Given the description of an element on the screen output the (x, y) to click on. 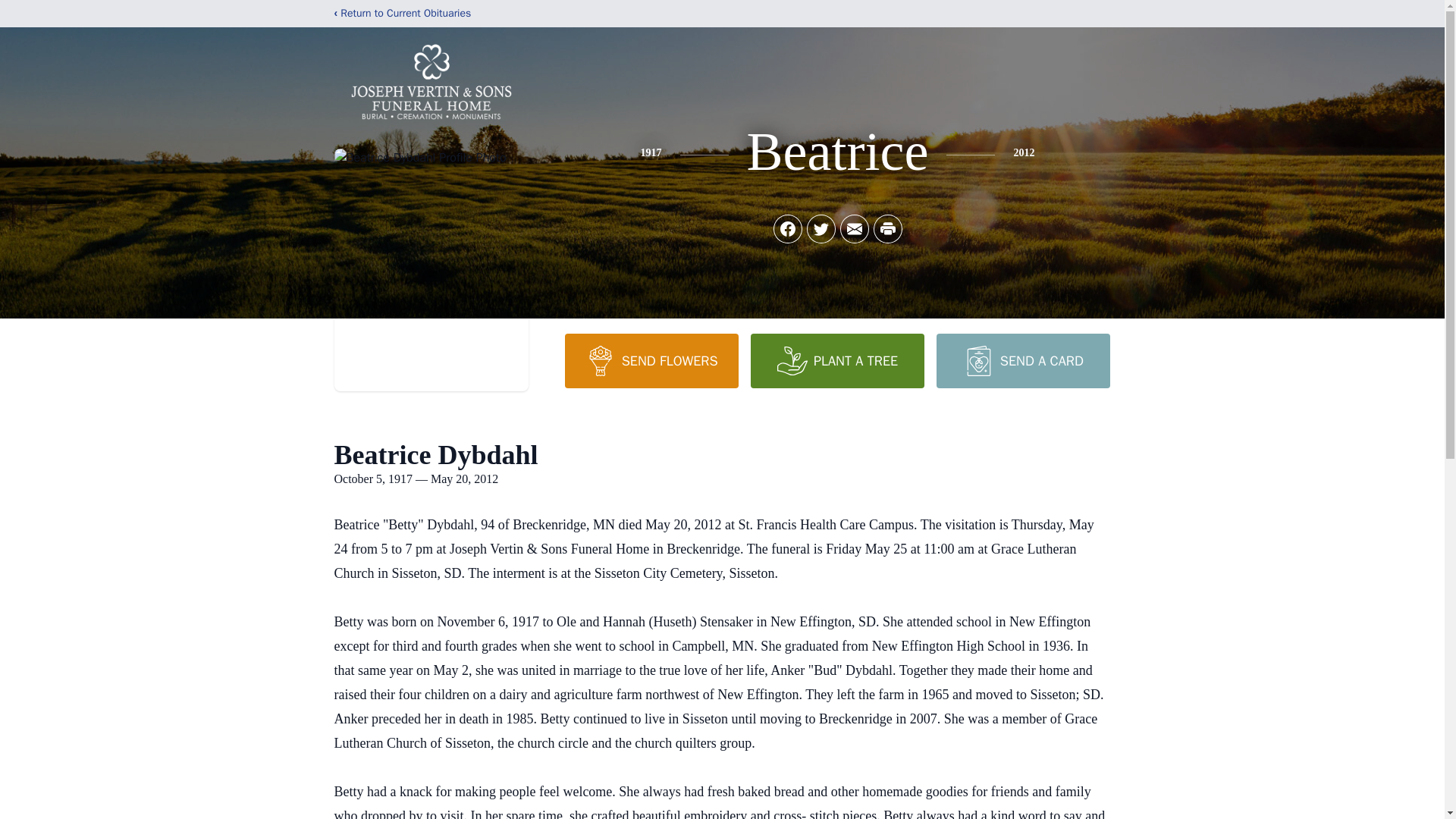
SEND A CARD (1022, 360)
PLANT A TREE (837, 360)
SEND FLOWERS (651, 360)
